Given the description of an element on the screen output the (x, y) to click on. 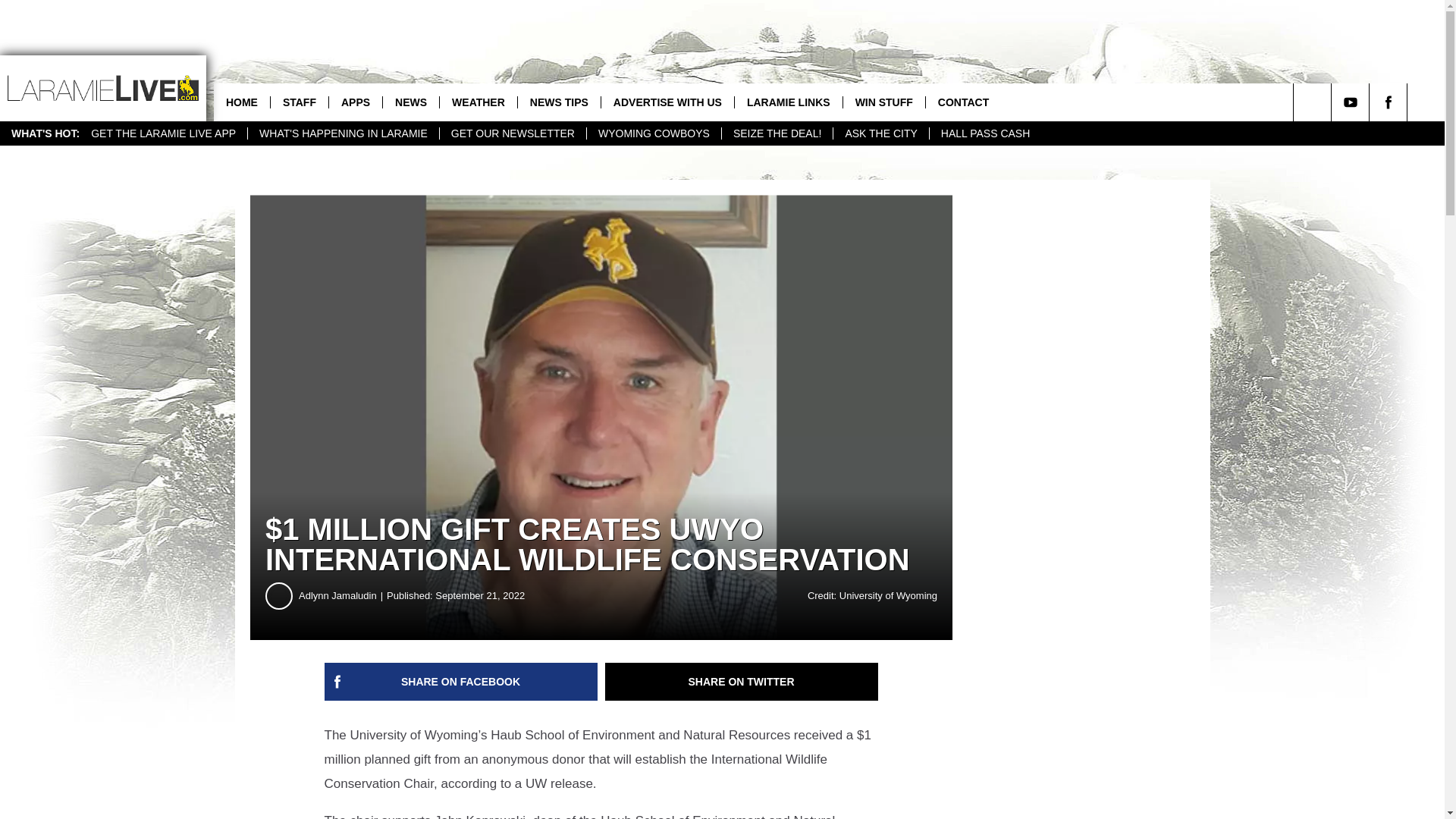
WEATHER (477, 102)
LARAMIE LINKS (788, 102)
NEWS TIPS (557, 102)
GET OUR NEWSLETTER (512, 133)
CONTACT (962, 102)
Share on Facebook (460, 681)
NEWS (410, 102)
APPS (355, 102)
GET THE LARAMIE LIVE APP (163, 133)
WHAT'S HAPPENING IN LARAMIE (343, 133)
HALL PASS CASH (985, 133)
ADVERTISE WITH US (666, 102)
HOME (241, 102)
WYOMING COWBOYS (653, 133)
SEIZE THE DEAL! (776, 133)
